Given the description of an element on the screen output the (x, y) to click on. 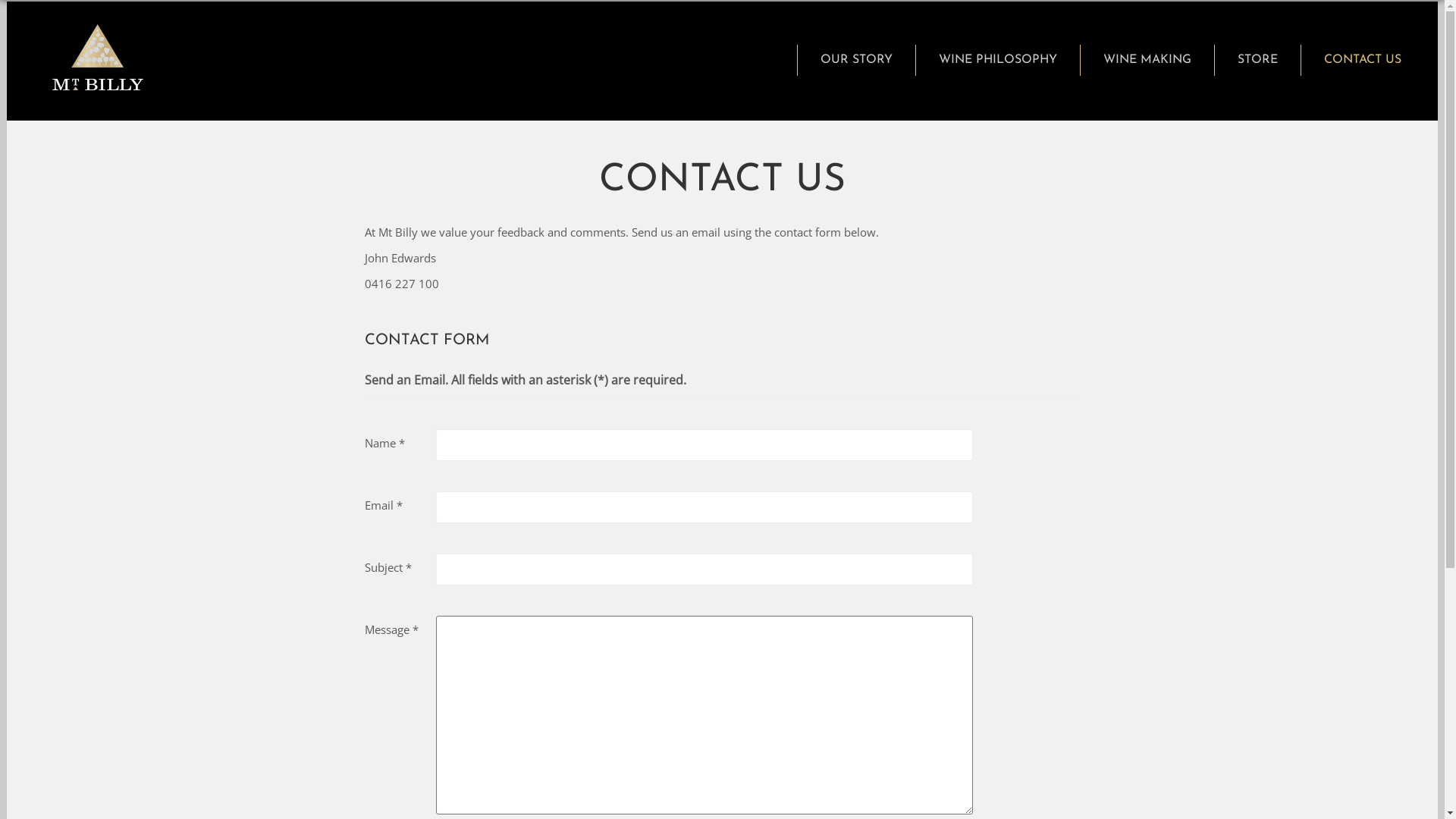
OUR STORY Element type: text (856, 59)
WINE MAKING Element type: text (1146, 59)
WINE PHILOSOPHY Element type: text (997, 59)
STORE Element type: text (1257, 59)
CONTACT US Element type: text (1362, 59)
